Given the description of an element on the screen output the (x, y) to click on. 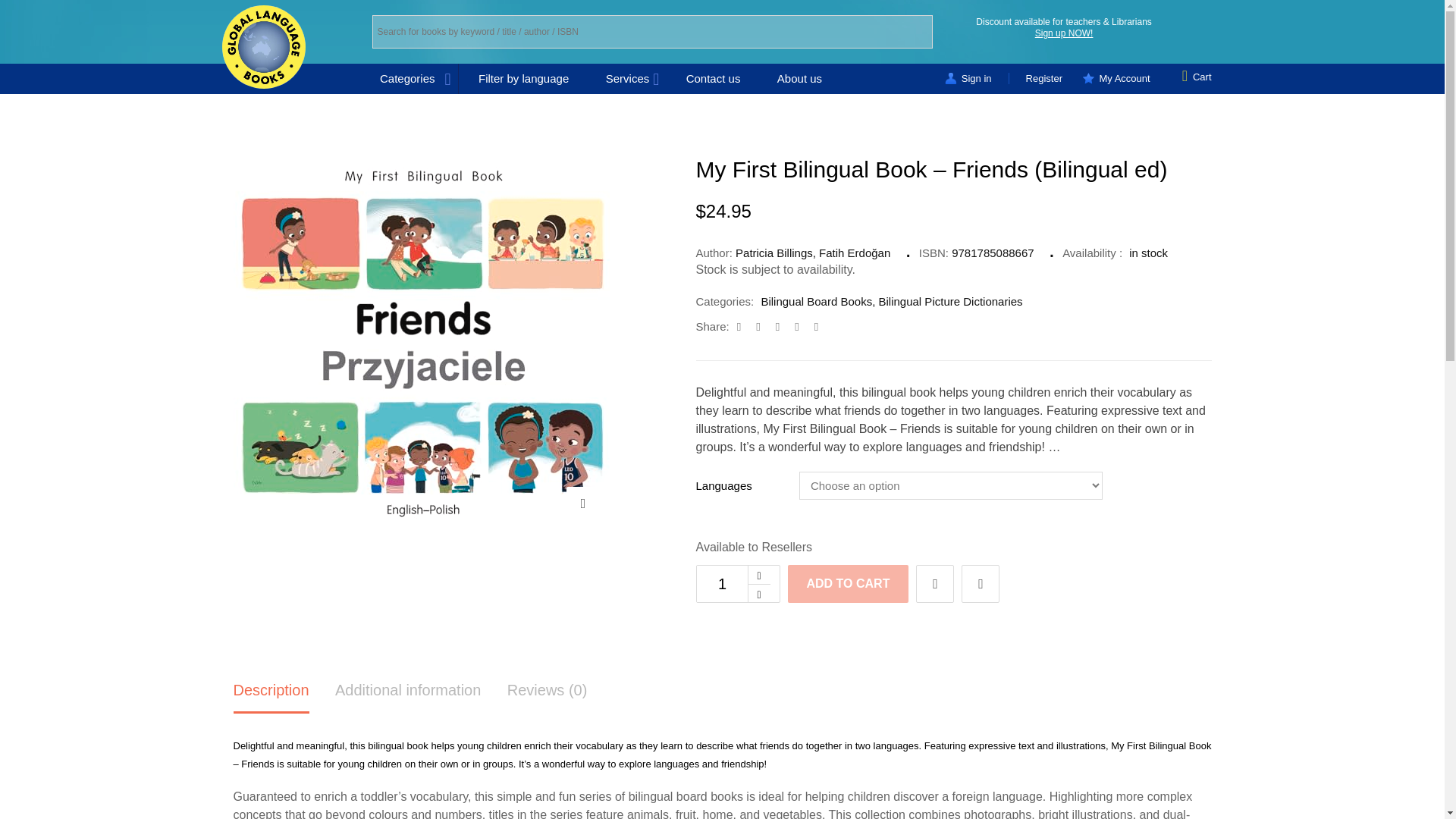
Categories (419, 78)
About us (799, 78)
Bilingual Picture Dictionaries (949, 300)
Qty (721, 583)
Add to Wishlist (934, 583)
My Account (1123, 78)
QuickView (979, 583)
Services (627, 78)
Bilingual Board Books (816, 300)
Register (1043, 78)
Filter by language (523, 78)
Sign up NOW! (1064, 32)
Sign in (976, 78)
